Given the description of an element on the screen output the (x, y) to click on. 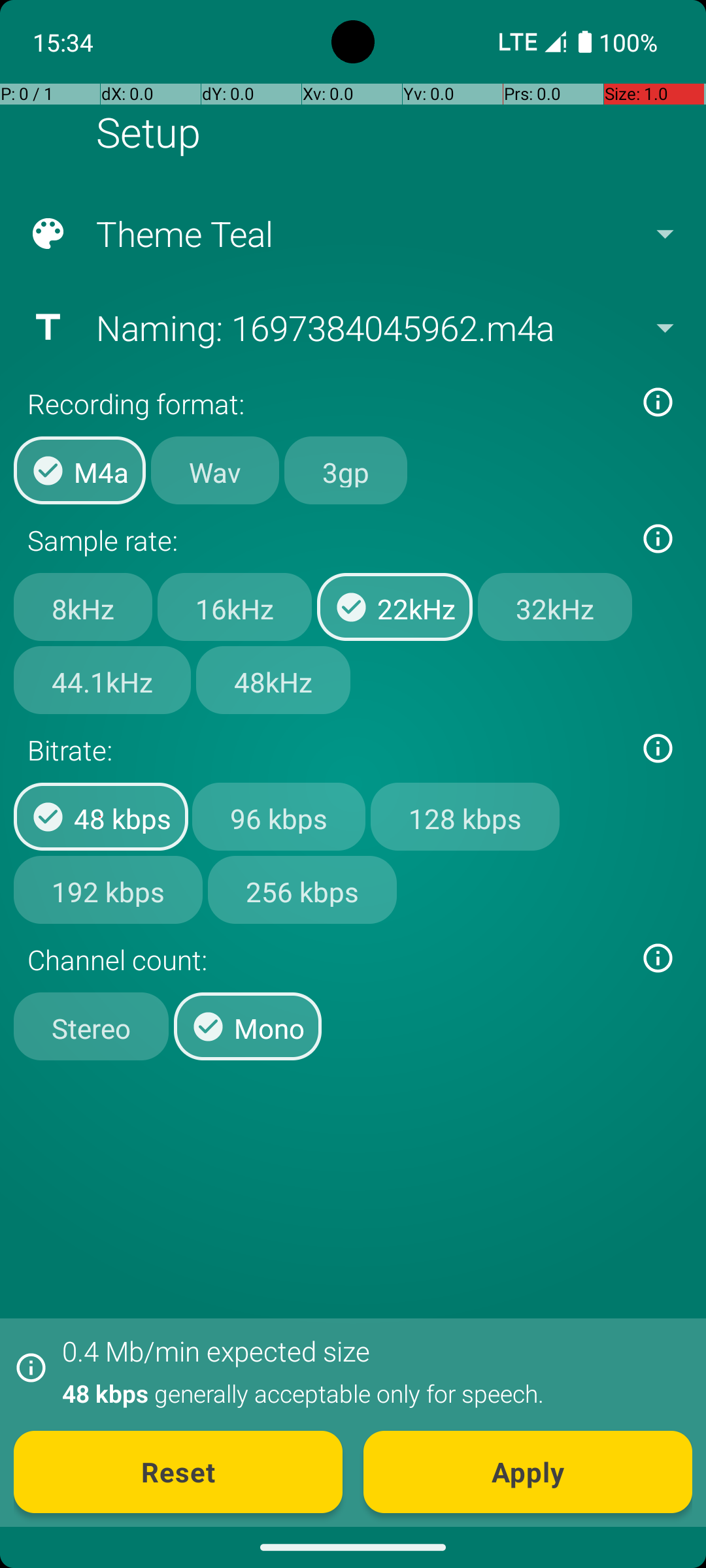
0.4 Mb/min expected size Element type: android.widget.TextView (215, 1350)
48 kbps generally acceptable only for speech. Element type: android.widget.TextView (370, 1392)
Naming: 1697384045962.m4a Element type: android.widget.TextView (352, 327)
